Given the description of an element on the screen output the (x, y) to click on. 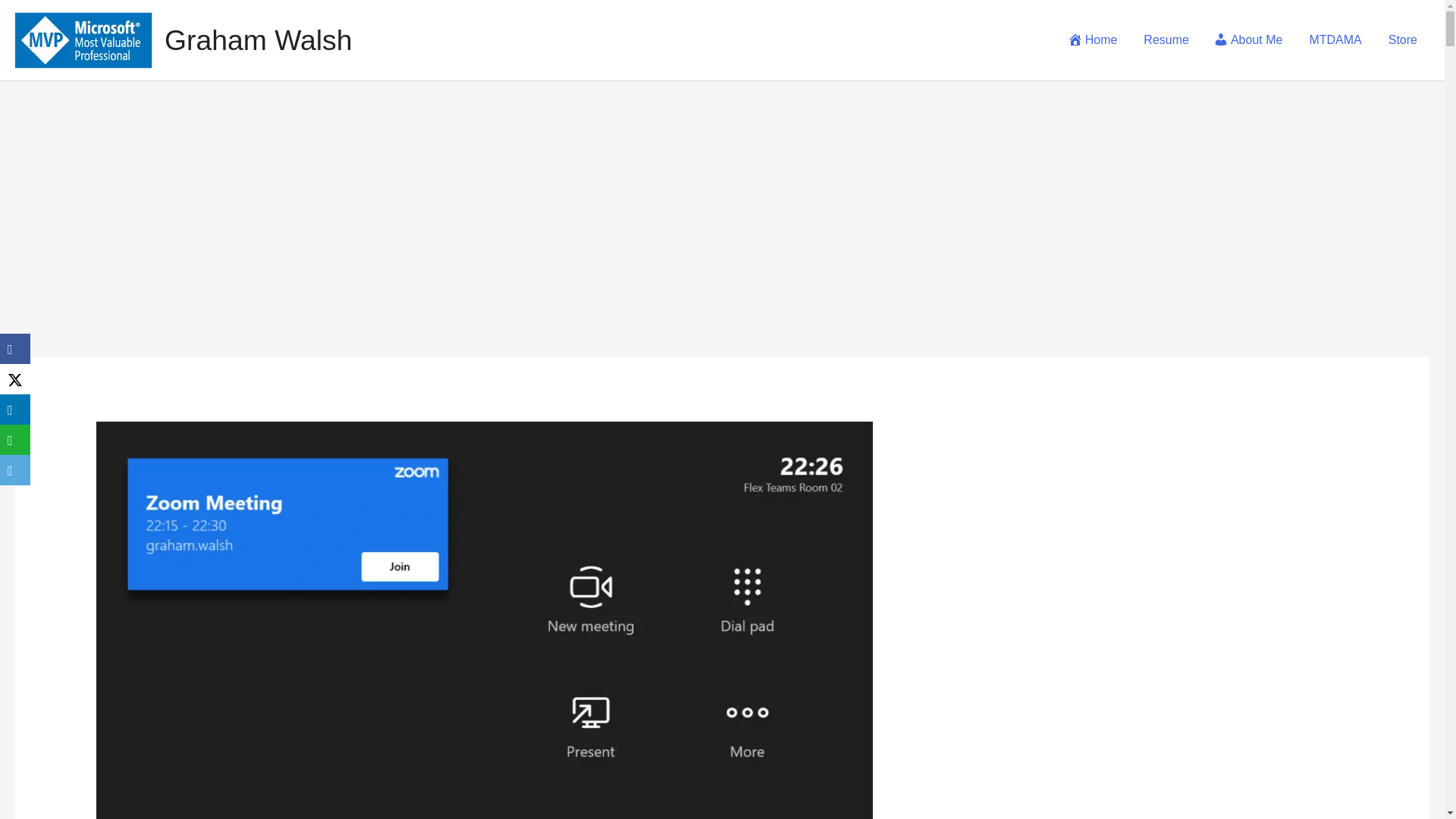
MTDAMA (1333, 39)
About Me (1247, 39)
Resume (1165, 39)
Store (1401, 39)
Home (1092, 39)
Graham Walsh (258, 40)
